Given the description of an element on the screen output the (x, y) to click on. 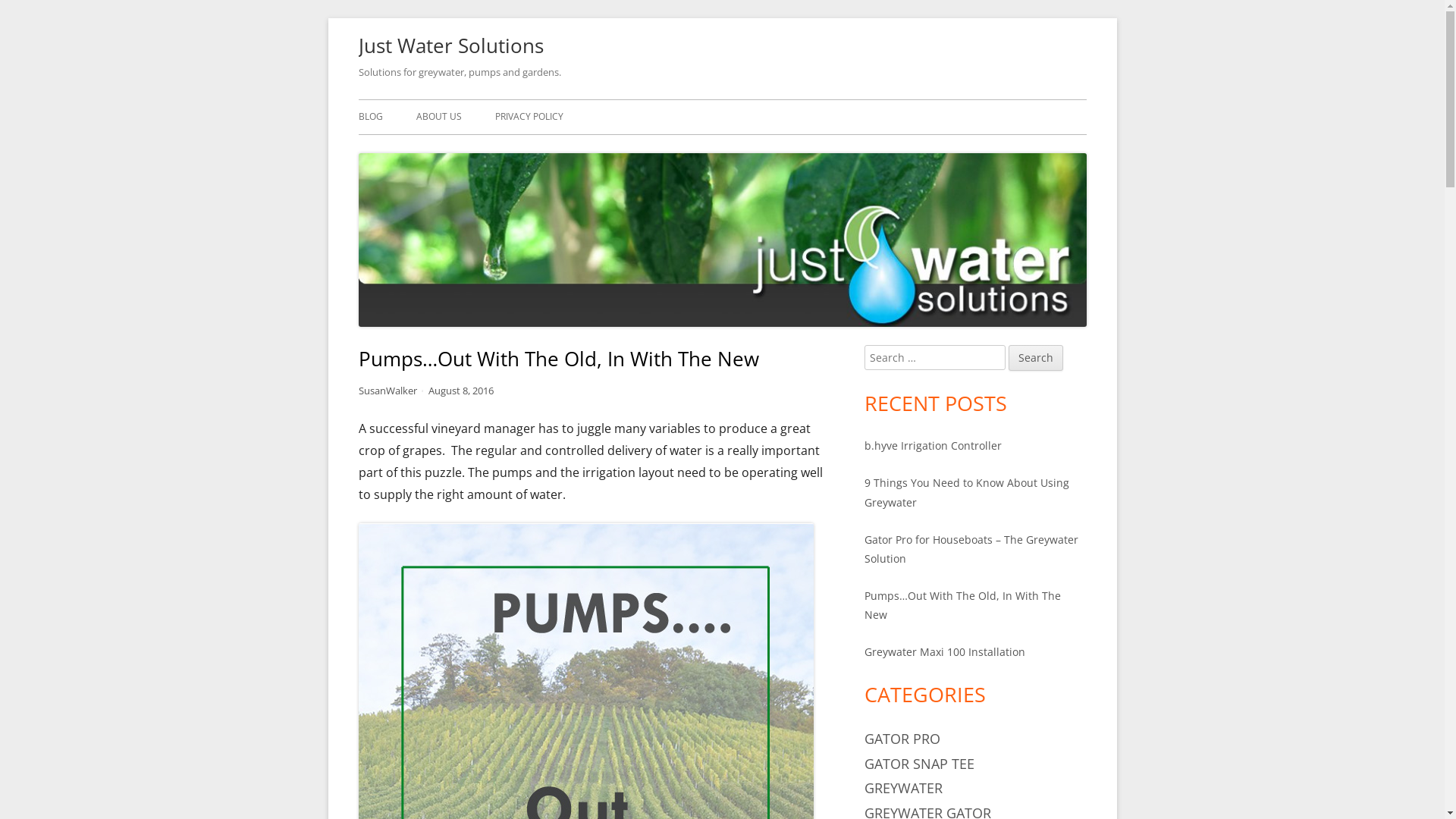
GATOR PRO Element type: text (902, 738)
Greywater Maxi 100 Installation Element type: text (944, 651)
GATOR SNAP TEE Element type: text (919, 763)
SusanWalker Element type: text (386, 390)
BLOG Element type: text (369, 116)
PRIVACY POLICY Element type: text (528, 116)
August 8, 2016 Element type: text (460, 390)
Search Element type: text (1035, 357)
GREYWATER Element type: text (903, 787)
ABOUT US Element type: text (438, 116)
9 Things You Need to Know About Using Greywater Element type: text (966, 491)
Just Water Solutions Element type: text (449, 45)
b.hyve Irrigation Controller Element type: text (932, 445)
